Given the description of an element on the screen output the (x, y) to click on. 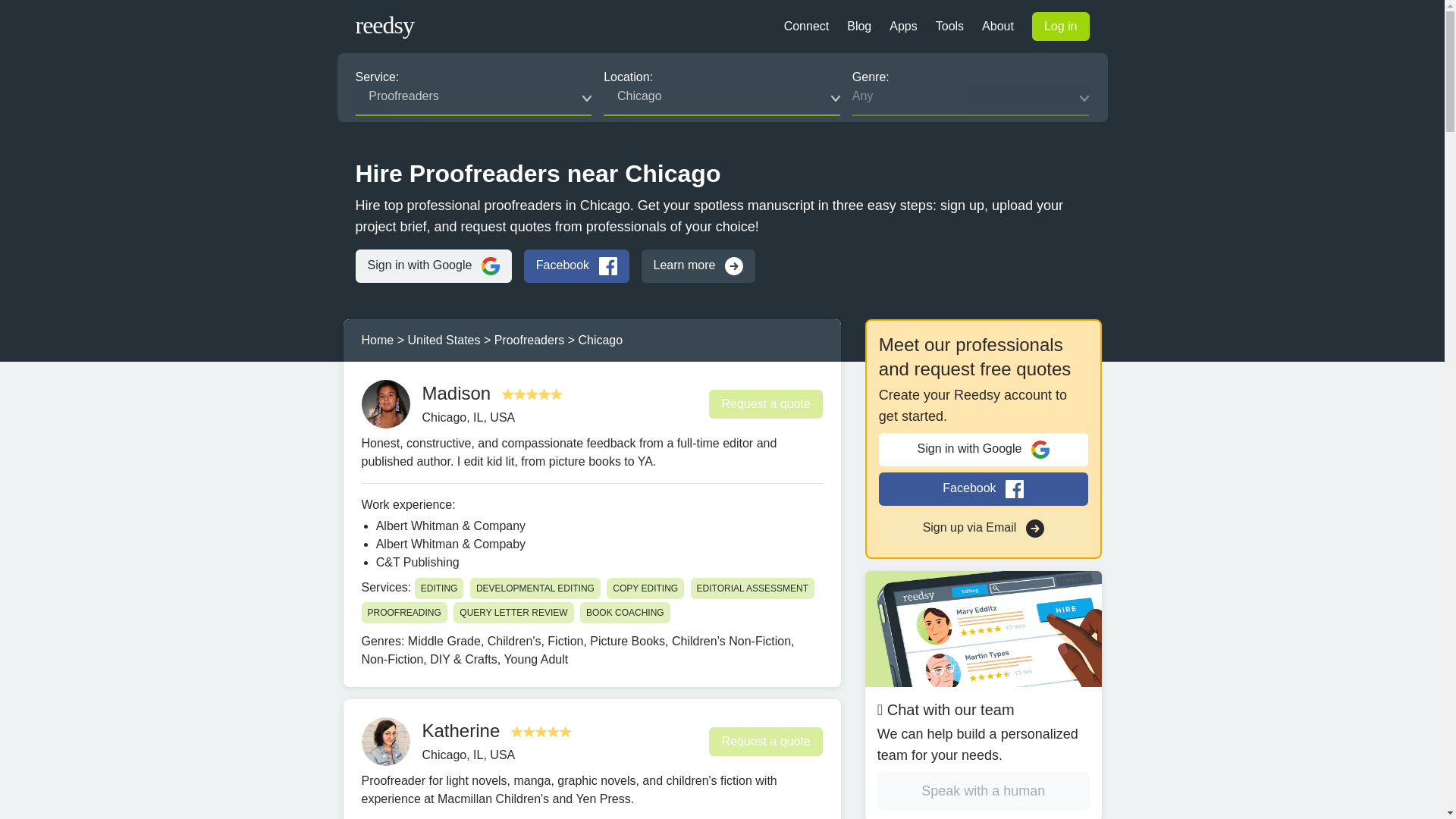
About (997, 25)
Tools (949, 25)
Connect (806, 25)
Blog (858, 25)
Apps (903, 25)
reedsy (374, 34)
Log in (1060, 26)
